Given the description of an element on the screen output the (x, y) to click on. 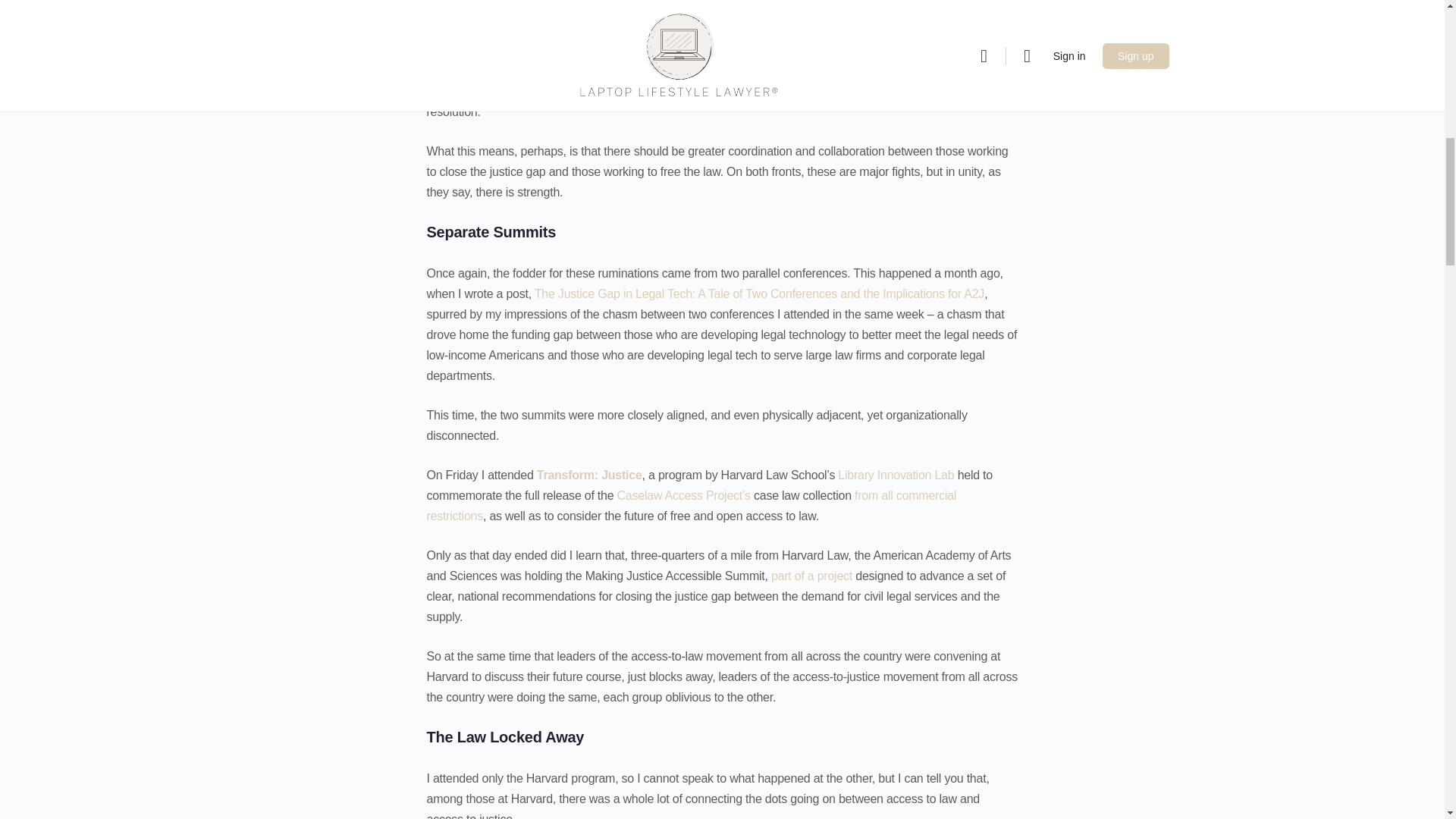
Library Innovation Lab (895, 474)
Transform: Justice (589, 474)
part of a project (811, 575)
from all commercial restrictions (691, 505)
